Given the description of an element on the screen output the (x, y) to click on. 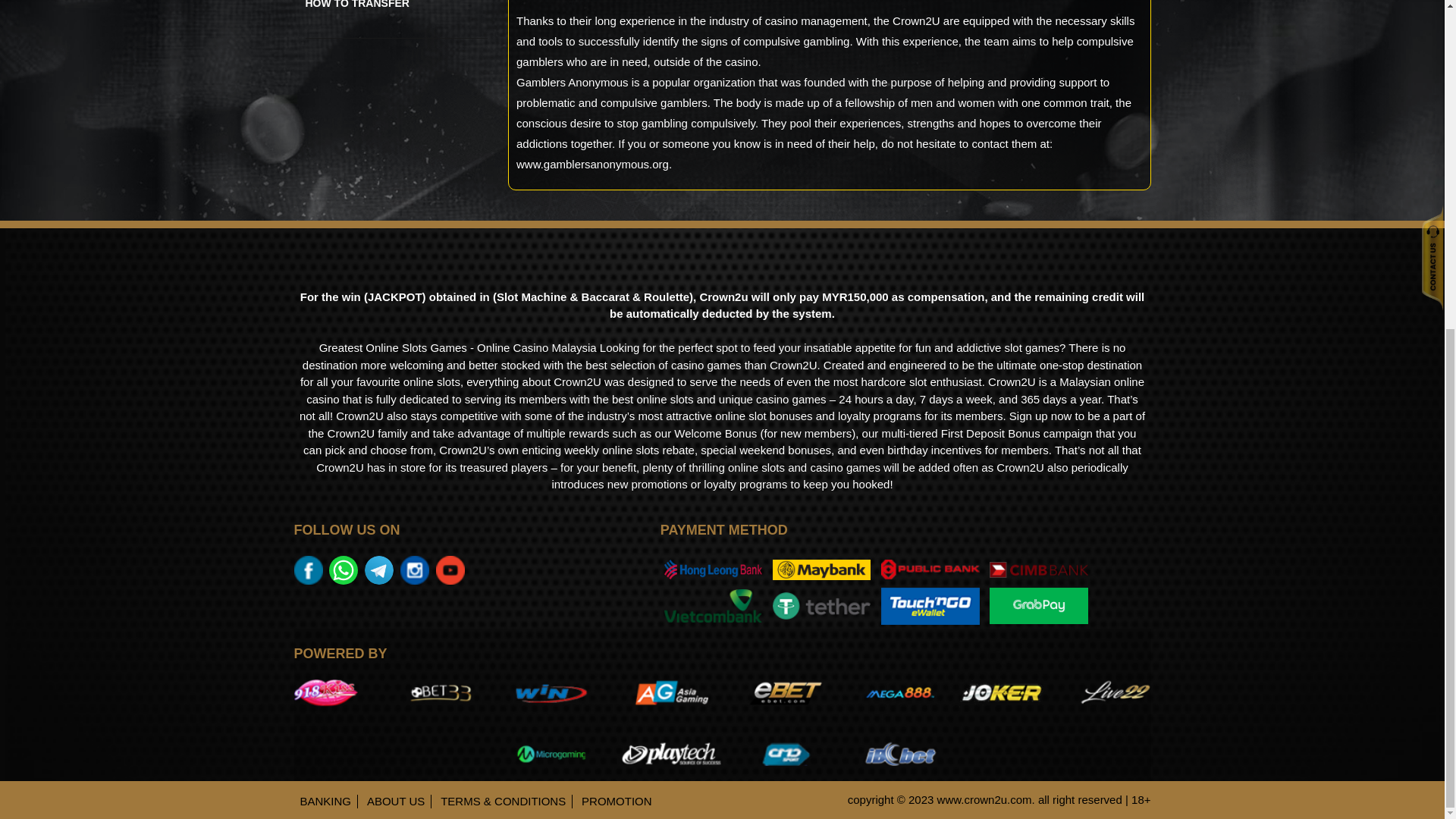
Whatsapp (347, 568)
Facebook (310, 568)
Instagram (451, 568)
Telegram (381, 568)
Instagram (416, 568)
